Given the description of an element on the screen output the (x, y) to click on. 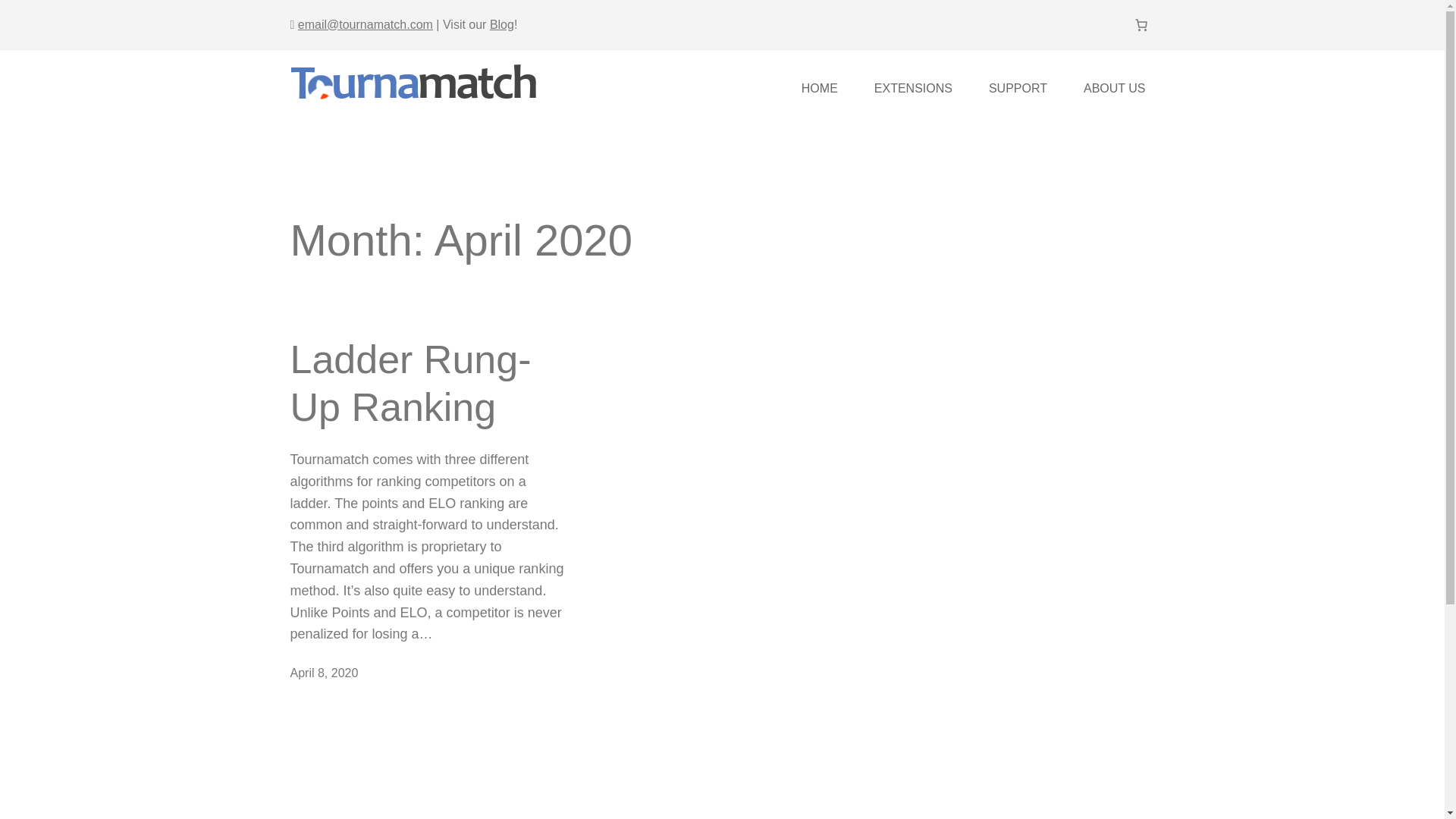
ABOUT US (1114, 83)
Ladder Rung-Up Ranking (427, 382)
April 8, 2020 (323, 672)
Blog (501, 24)
SUPPORT (1018, 83)
EXTENSIONS (912, 83)
